Given the description of an element on the screen output the (x, y) to click on. 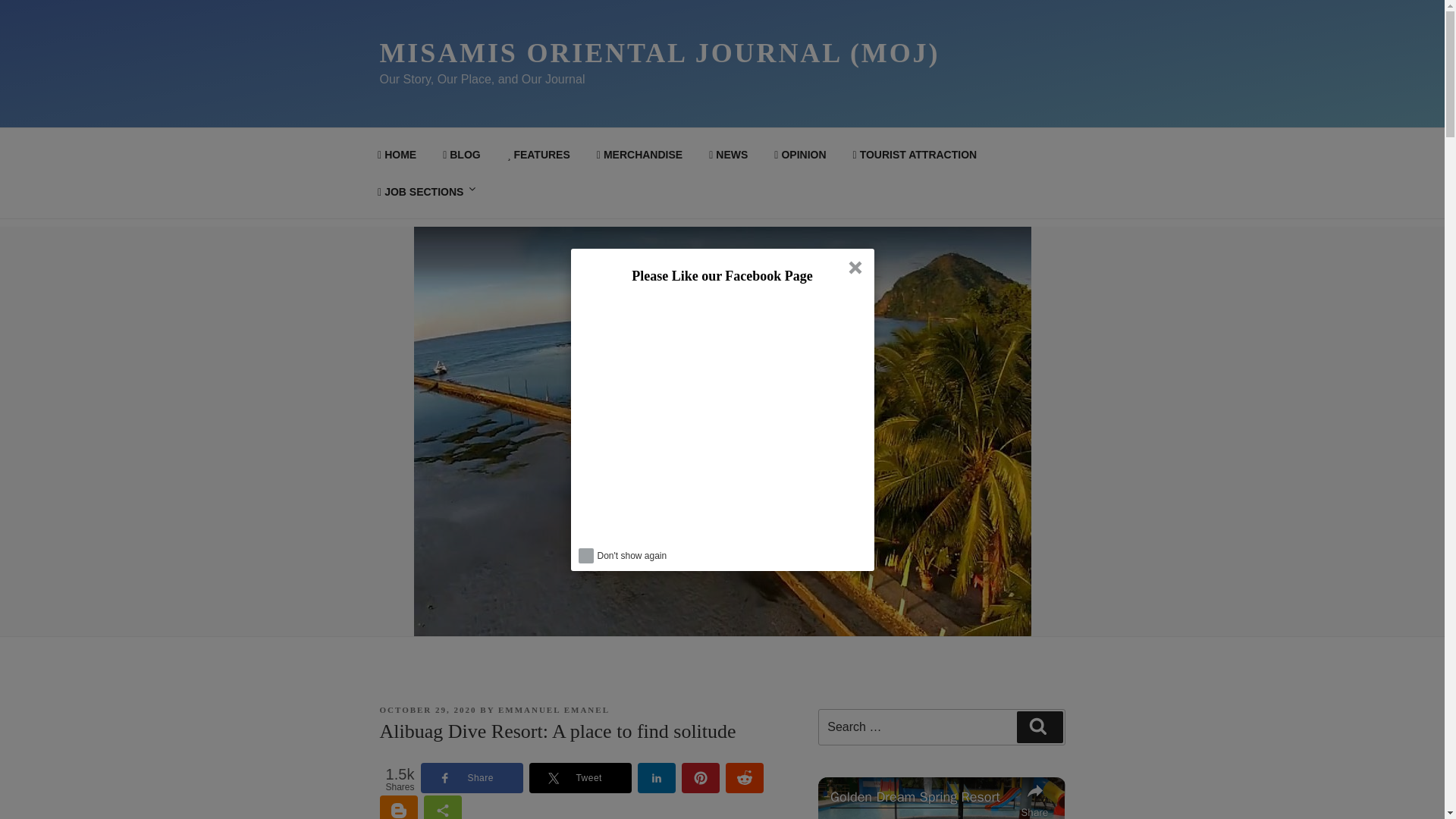
NEWS (728, 154)
EMMANUEL EMANEL (553, 709)
OCTOBER 29, 2020 (427, 709)
BLOG (462, 154)
TOURIST ATTRACTION (915, 154)
HOME (396, 154)
MERCHANDISE (639, 154)
FEATURES (538, 154)
OPINION (800, 154)
JOB SECTIONS (427, 190)
